Given the description of an element on the screen output the (x, y) to click on. 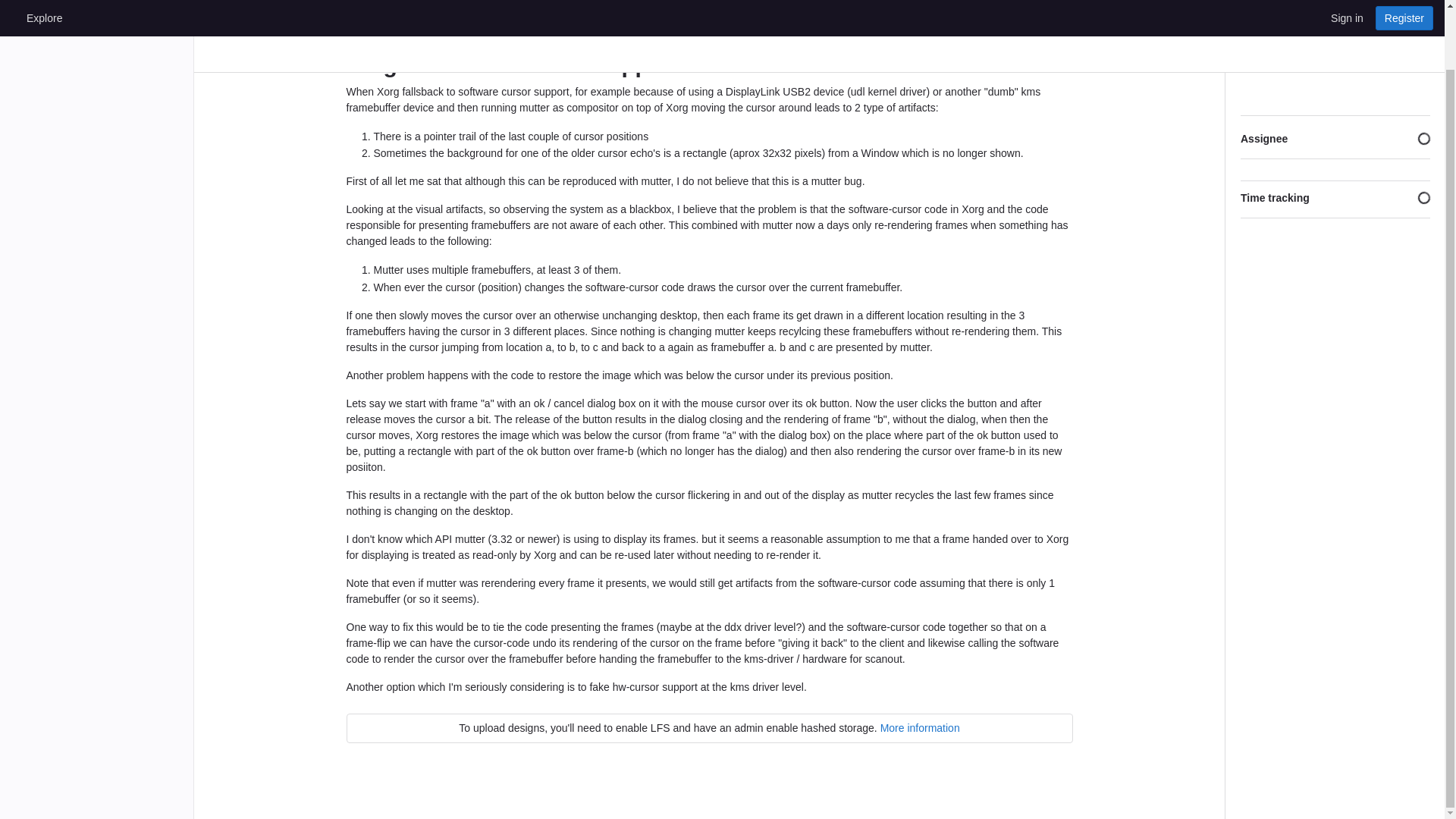
More information (919, 727)
this wiki page (695, 26)
Collapse sidebar (1420, 29)
